Given the description of an element on the screen output the (x, y) to click on. 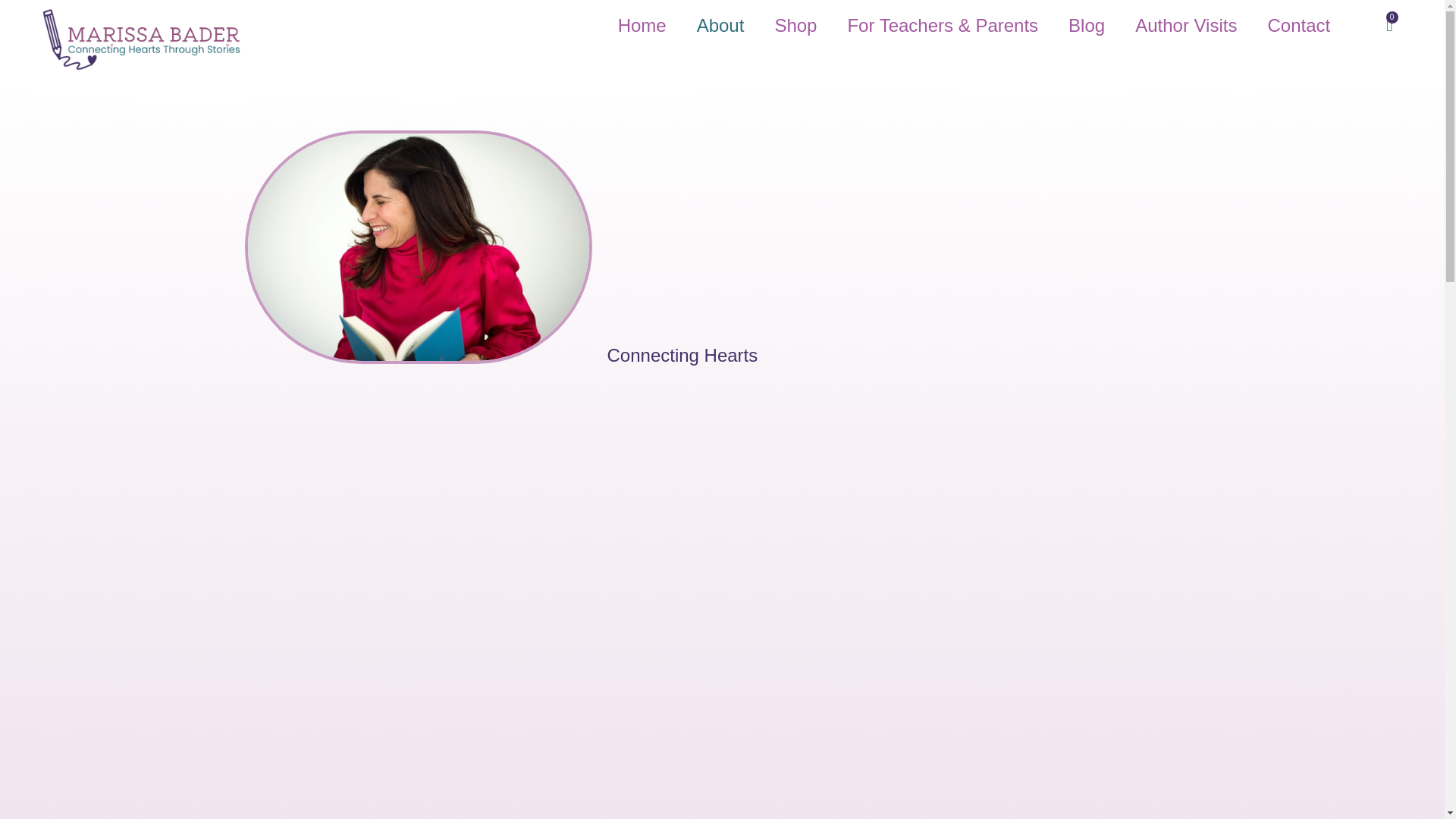
Blog (1085, 26)
Shop (794, 26)
0 (1389, 25)
Author Visits (1185, 26)
Home (641, 26)
About (720, 26)
Contact (1298, 26)
